Given the description of an element on the screen output the (x, y) to click on. 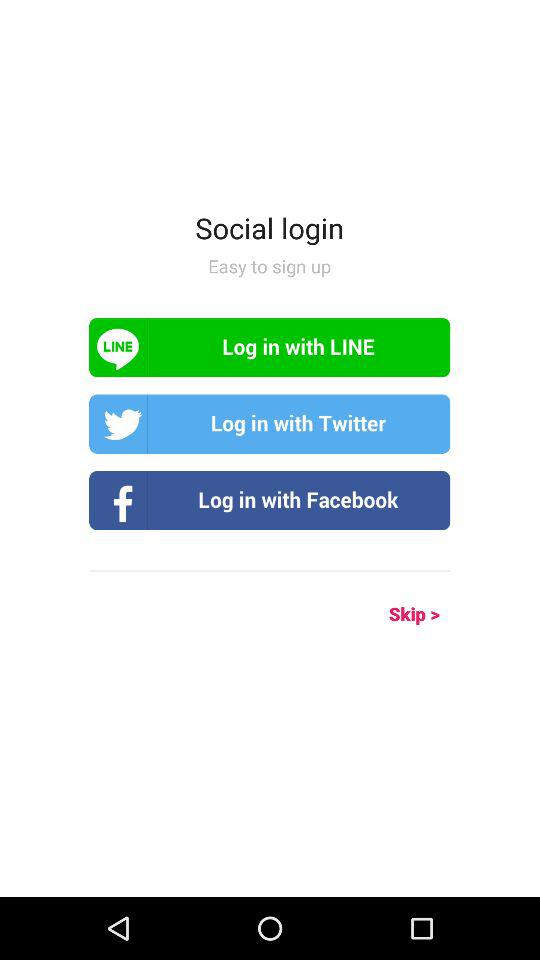
log into twitter (269, 423)
